Given the description of an element on the screen output the (x, y) to click on. 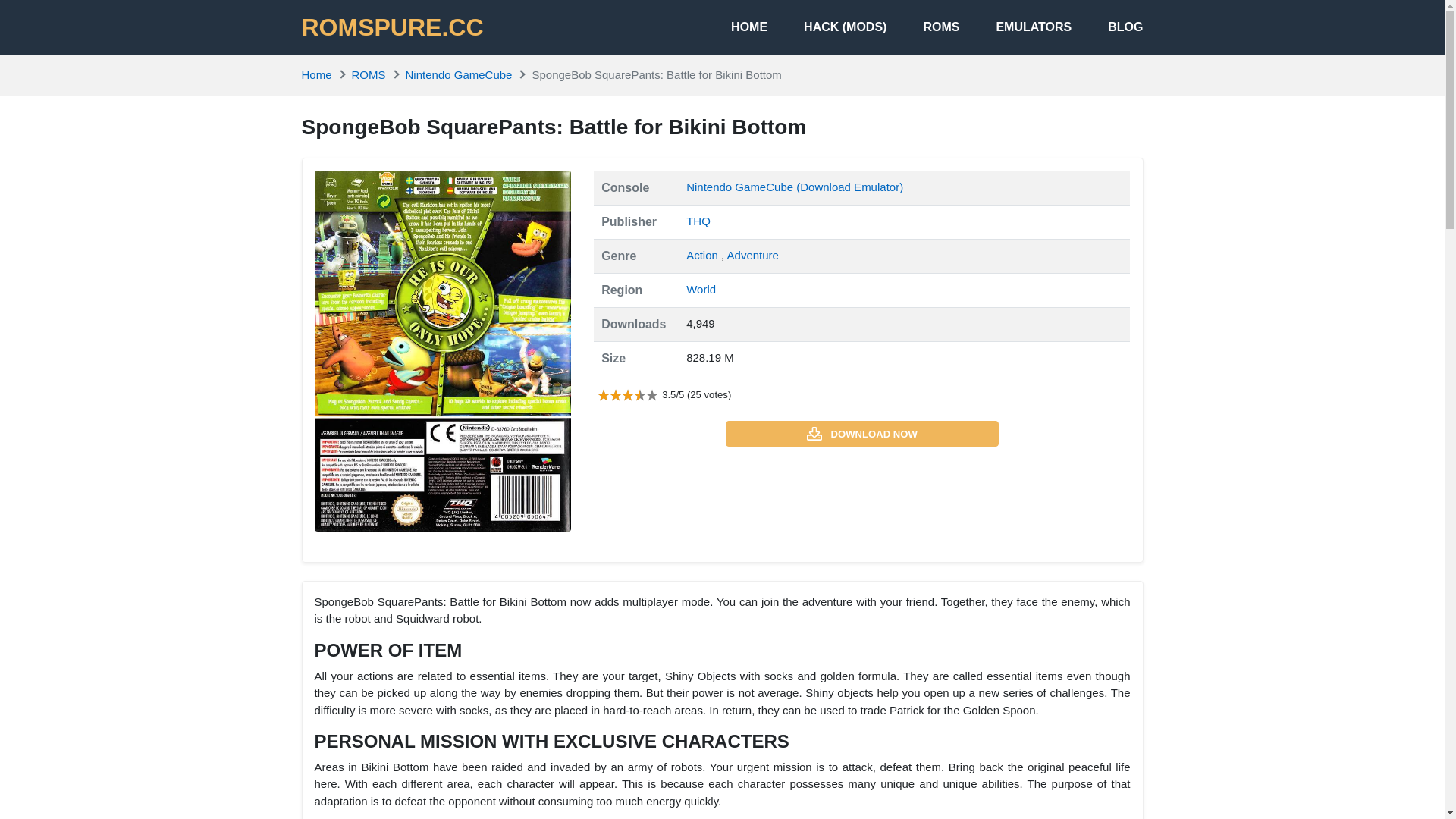
Nintendo GameCube (740, 186)
Home (316, 74)
THQ (697, 220)
ROMS (922, 27)
ROMSPURE.CC (392, 26)
Adventure (752, 254)
World (700, 288)
Action (702, 254)
Nintendo GameCube (459, 74)
DOWNLOAD NOW (861, 433)
Nintendo GameCube (459, 74)
ROMS (368, 74)
BLOG (1106, 27)
HOME (730, 27)
